Given the description of an element on the screen output the (x, y) to click on. 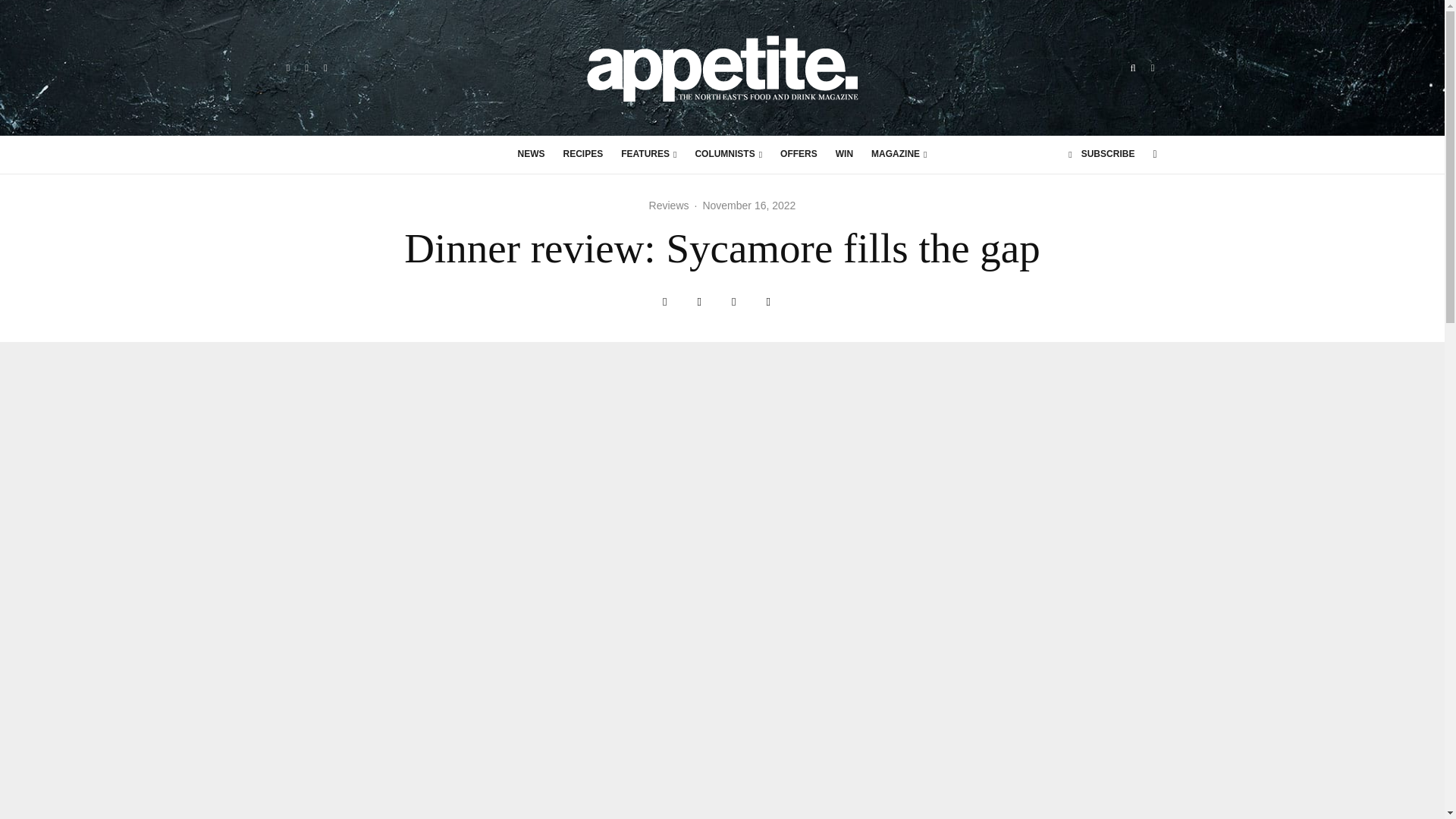
NEWS (531, 154)
RECIPES (583, 154)
FEATURES (648, 154)
